Given the description of an element on the screen output the (x, y) to click on. 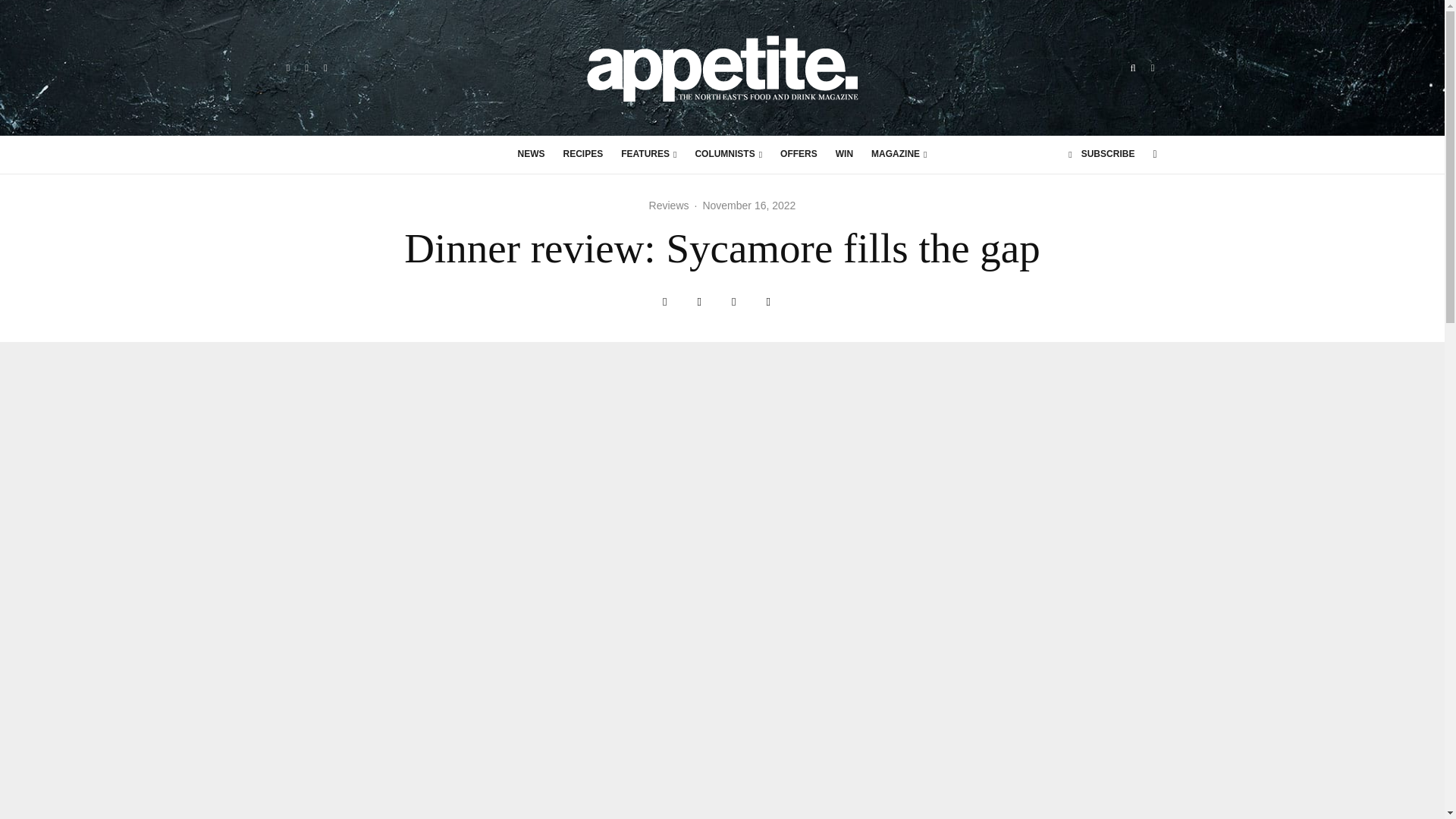
NEWS (531, 154)
RECIPES (583, 154)
FEATURES (648, 154)
